Given the description of an element on the screen output the (x, y) to click on. 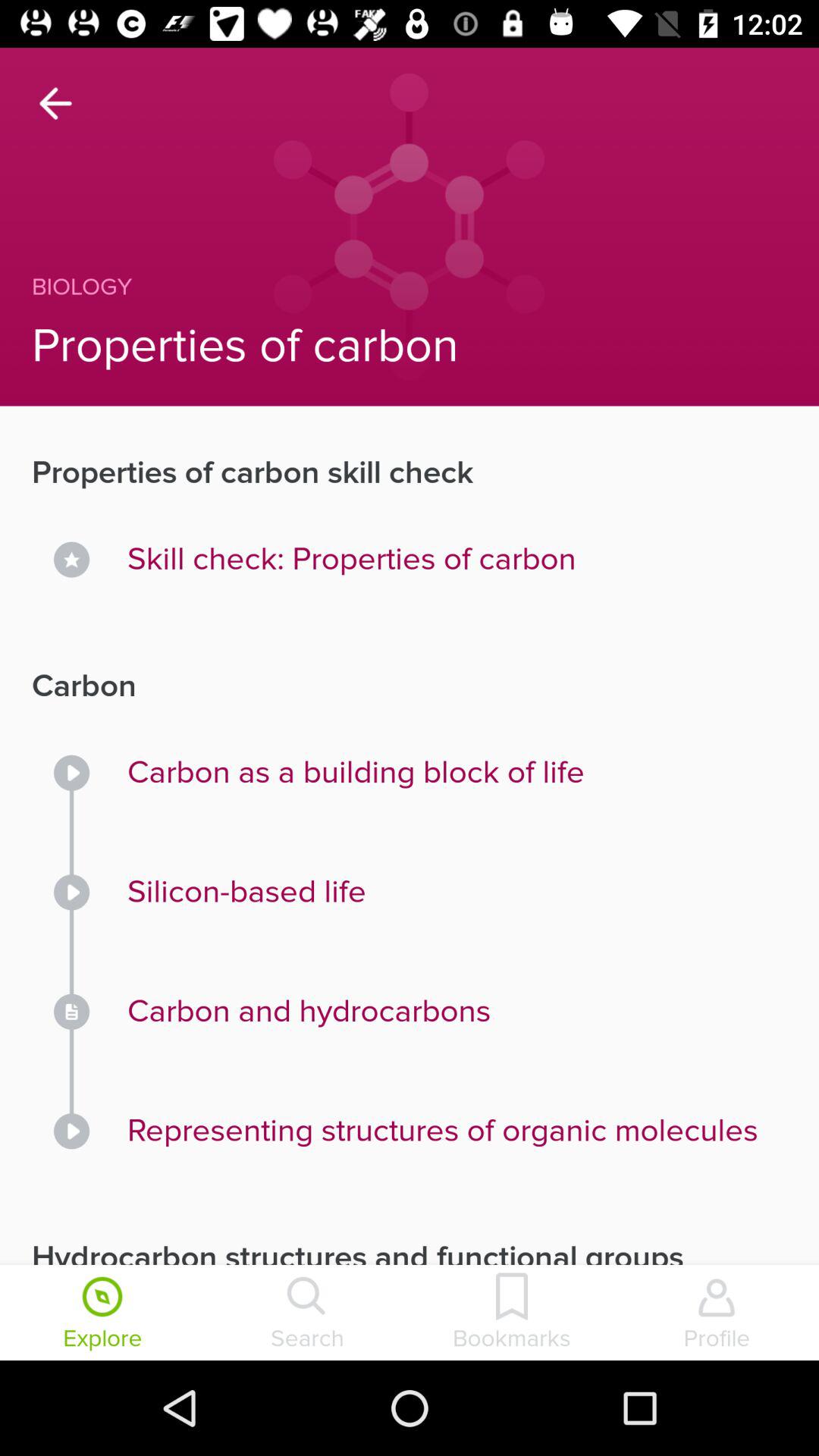
open bookmarks (511, 1314)
